Given the description of an element on the screen output the (x, y) to click on. 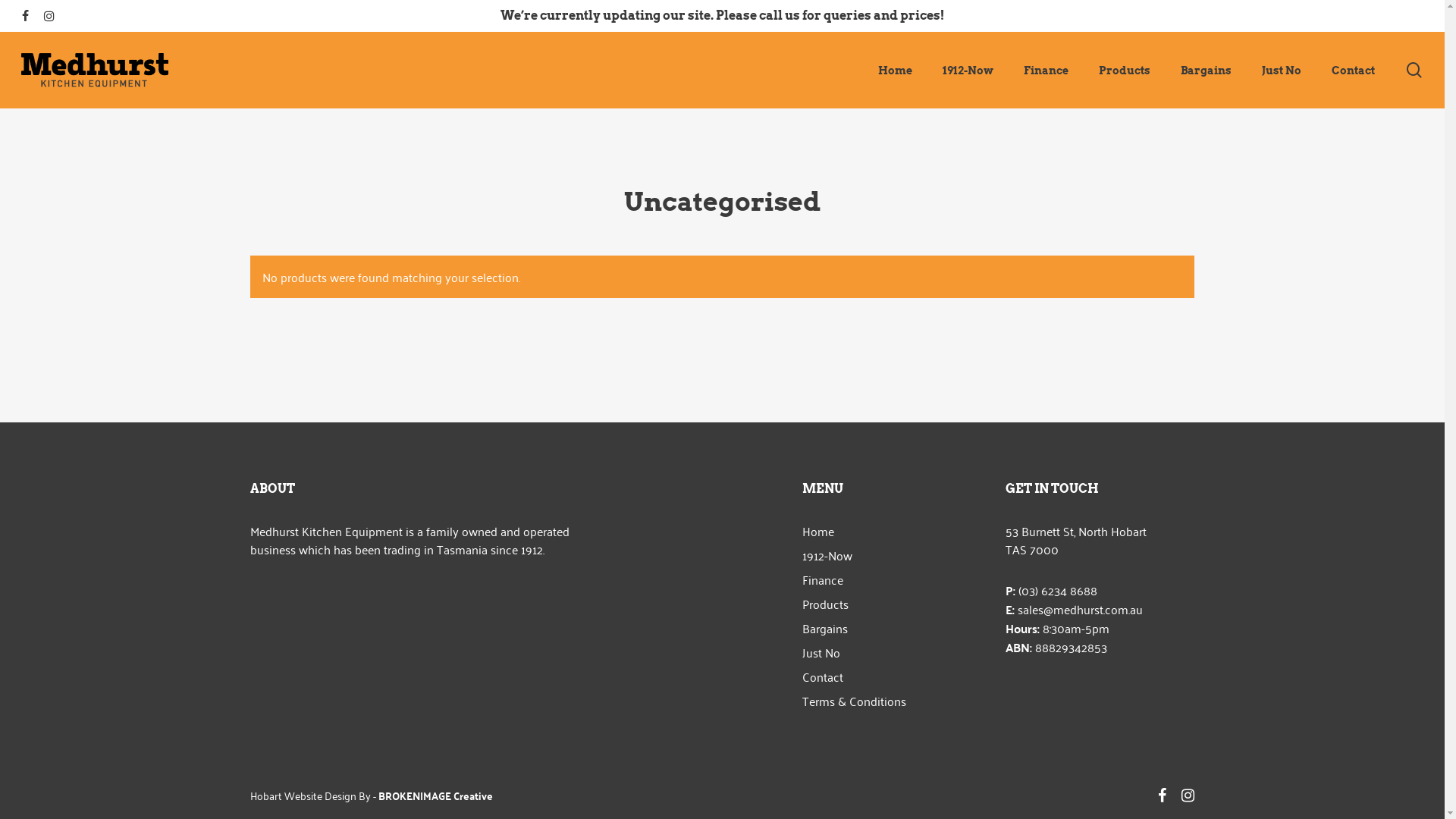
1912-Now Element type: text (967, 70)
Products Element type: text (894, 603)
Bargains Element type: text (1205, 70)
BROKENIMAGE Creative Element type: text (435, 794)
Just No Element type: text (1281, 70)
(03) 6234 8688 Element type: text (1057, 589)
search Element type: text (1414, 70)
Home Element type: text (895, 70)
instagram Element type: text (1187, 793)
Finance Element type: text (894, 579)
facebook Element type: text (24, 15)
facebook Element type: text (1161, 793)
Just No Element type: text (894, 652)
Contact Element type: text (894, 676)
Terms & Conditions Element type: text (894, 700)
1912-Now Element type: text (894, 555)
Bargains Element type: text (894, 627)
Home Element type: text (894, 530)
sales@medhurst.com.au Element type: text (1079, 608)
Contact Element type: text (1352, 70)
Finance Element type: text (1045, 70)
instagram Element type: text (48, 15)
Products Element type: text (1124, 70)
